Given the description of an element on the screen output the (x, y) to click on. 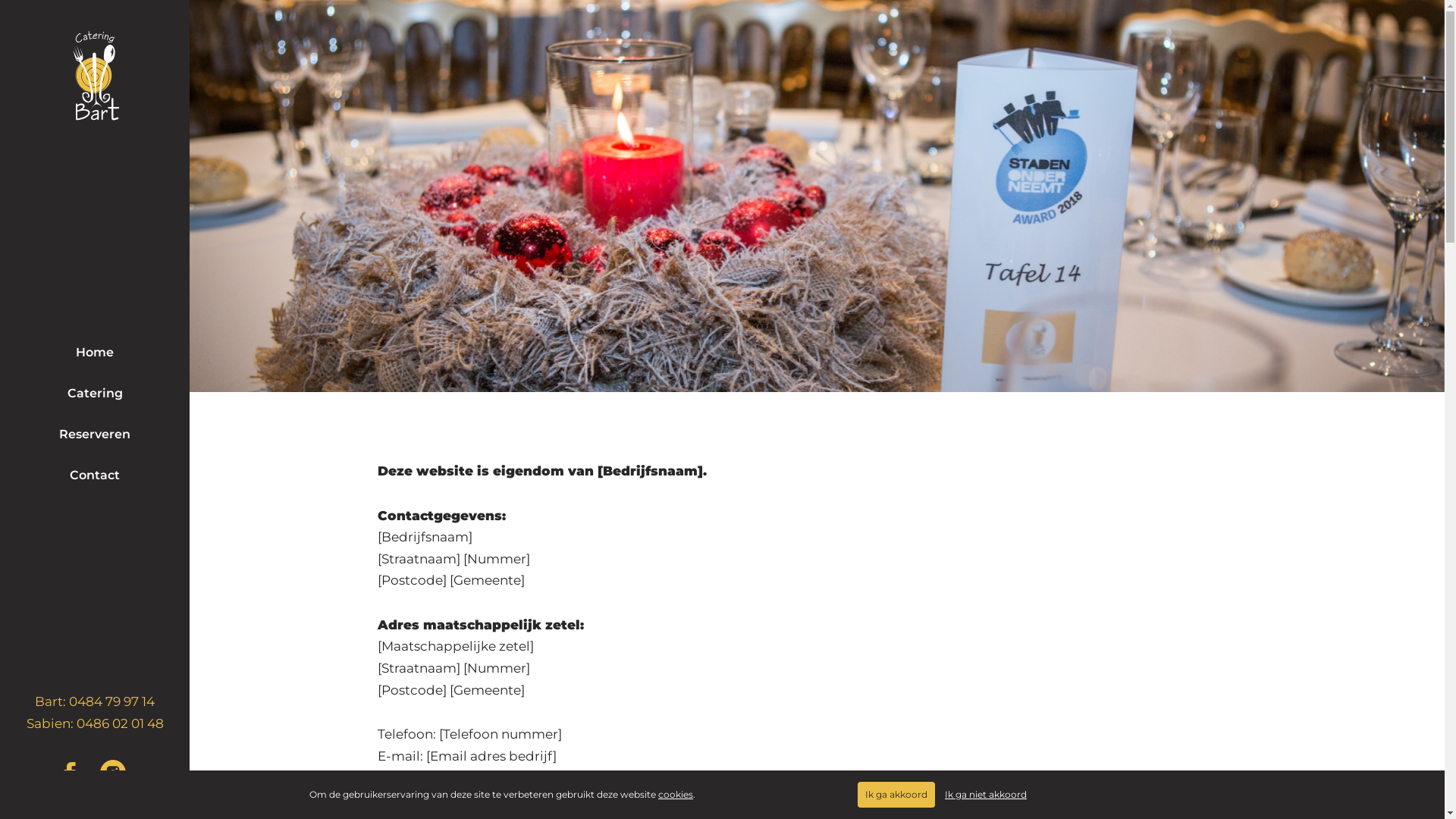
Reserveren Element type: text (94, 434)
Home Element type: text (94, 352)
Ik ga akkoord Element type: text (896, 794)
Catering Element type: text (94, 393)
Facebook Element type: hover (73, 772)
Ik ga niet akkoord Element type: text (985, 794)
Contact Element type: text (94, 475)
cookies Element type: text (675, 794)
Instagram Element type: hover (116, 772)
